Given the description of an element on the screen output the (x, y) to click on. 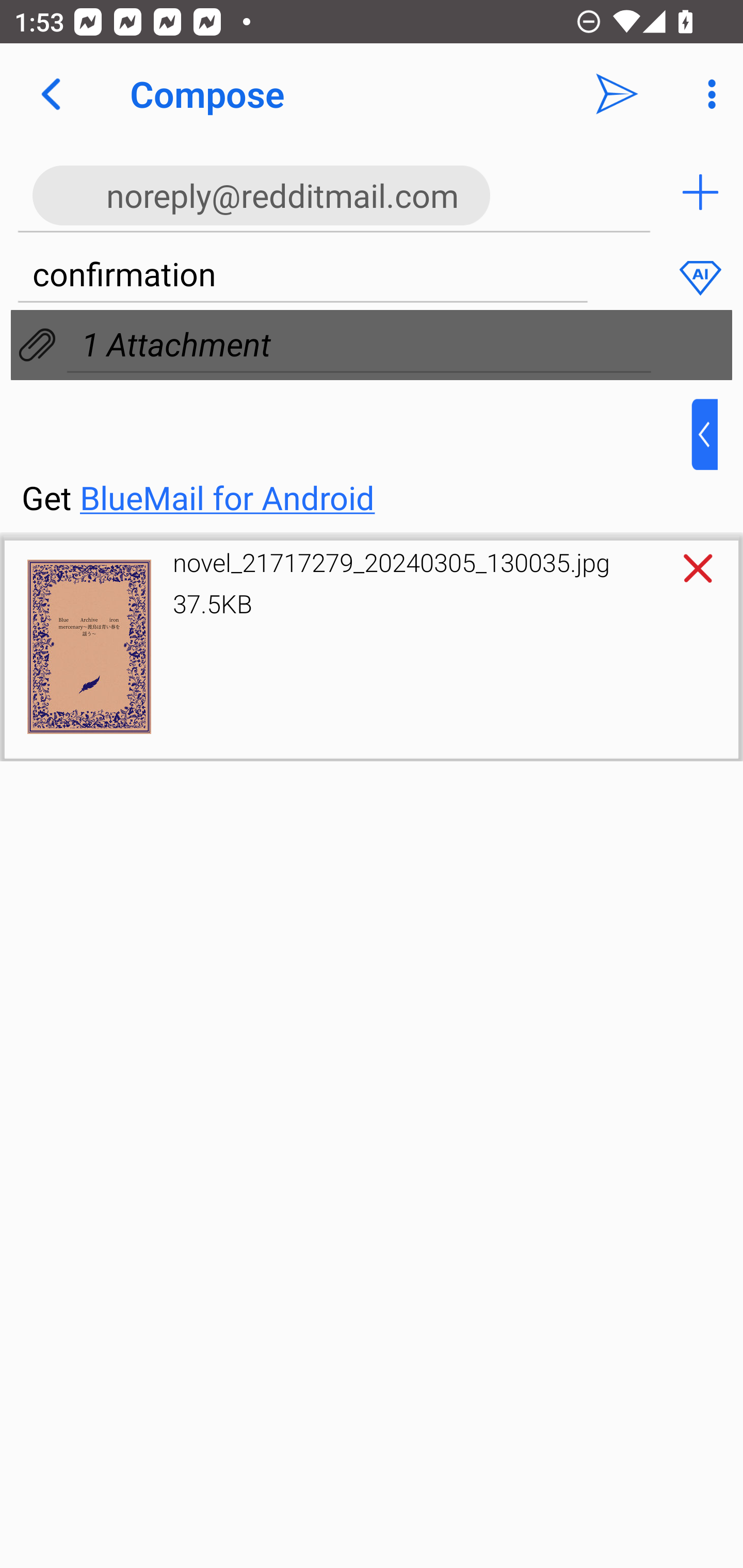
Navigate up (50, 93)
Send (616, 93)
More Options (706, 93)
<noreply@redditmail.com>,  (334, 191)
Add recipient (To) (699, 191)
confirmation (302, 274)


⁣Get BlueMail for Android ​ (355, 459)
Tap to download (88, 646)
novel_21717279_20240305_130035.jpg (391, 561)
37.5KB (212, 603)
